Given the description of an element on the screen output the (x, y) to click on. 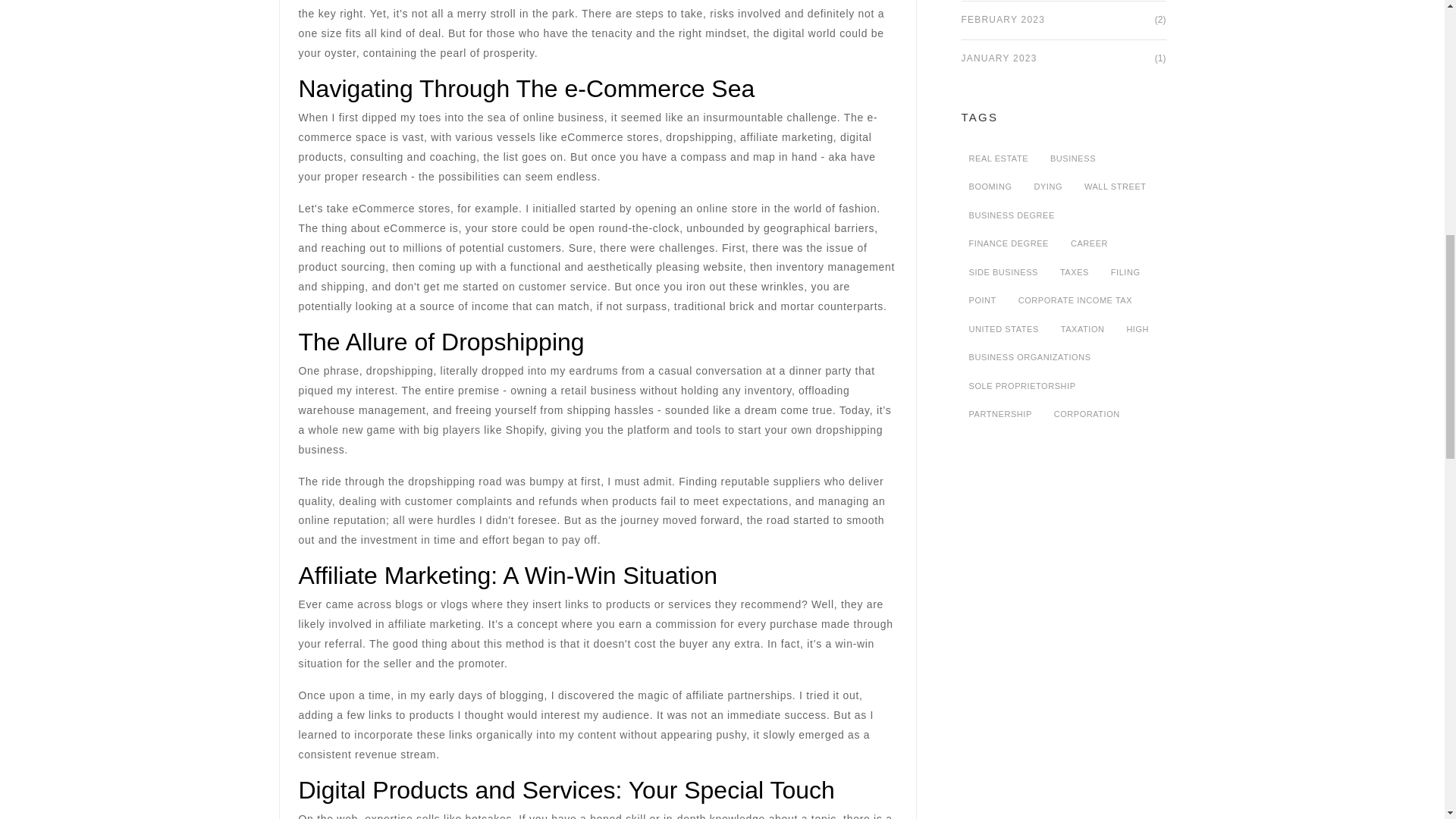
WALL STREET (1115, 186)
FINANCE DEGREE (1008, 243)
BUSINESS DEGREE (1011, 215)
JANUARY 2023 (998, 58)
HIGH (1137, 329)
FEBRUARY 2023 (1002, 20)
POINT (982, 300)
DYING (1048, 186)
REAL ESTATE (998, 158)
UNITED STATES (1003, 329)
